Given the description of an element on the screen output the (x, y) to click on. 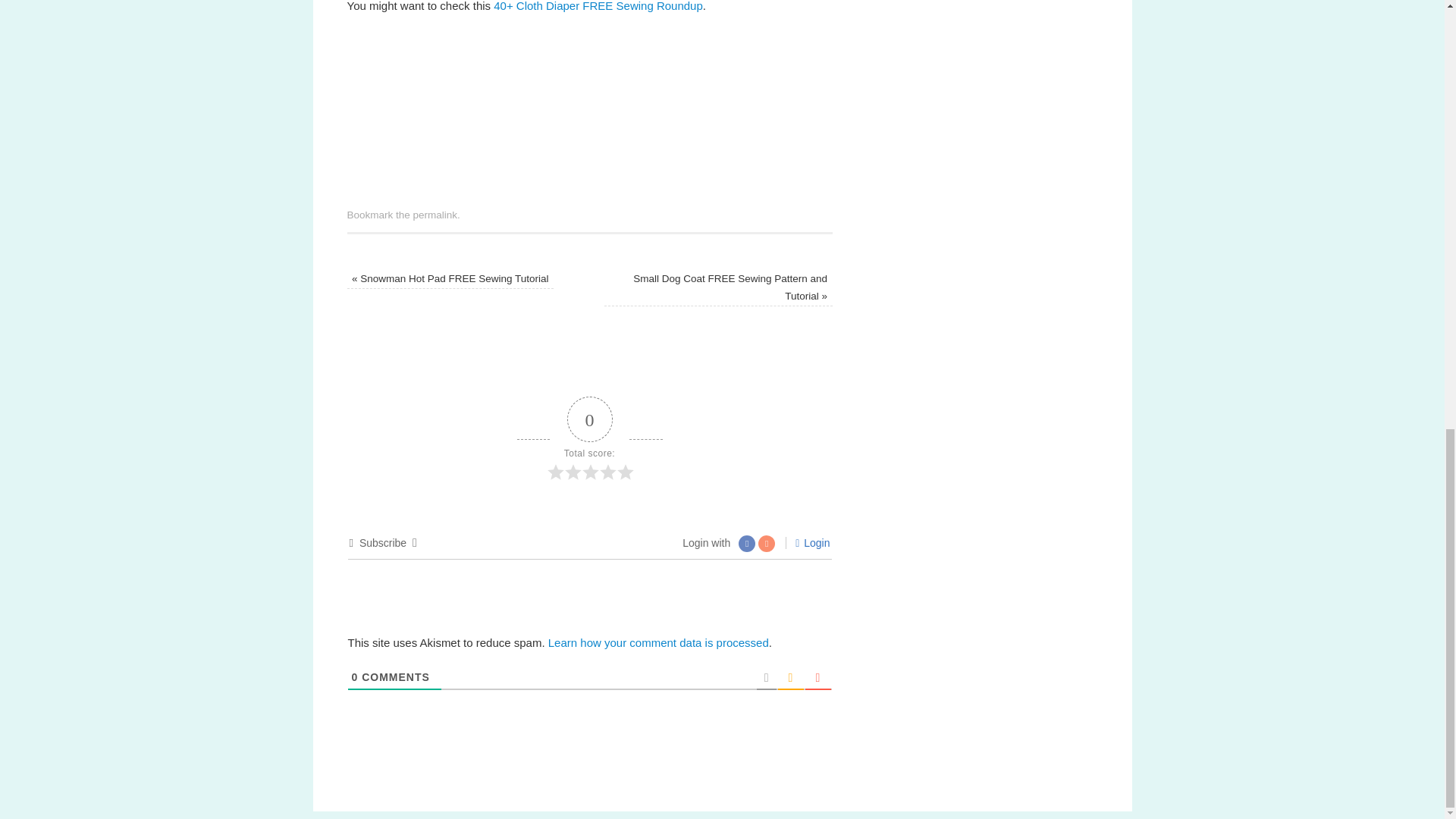
Total score: (589, 439)
